Given the description of an element on the screen output the (x, y) to click on. 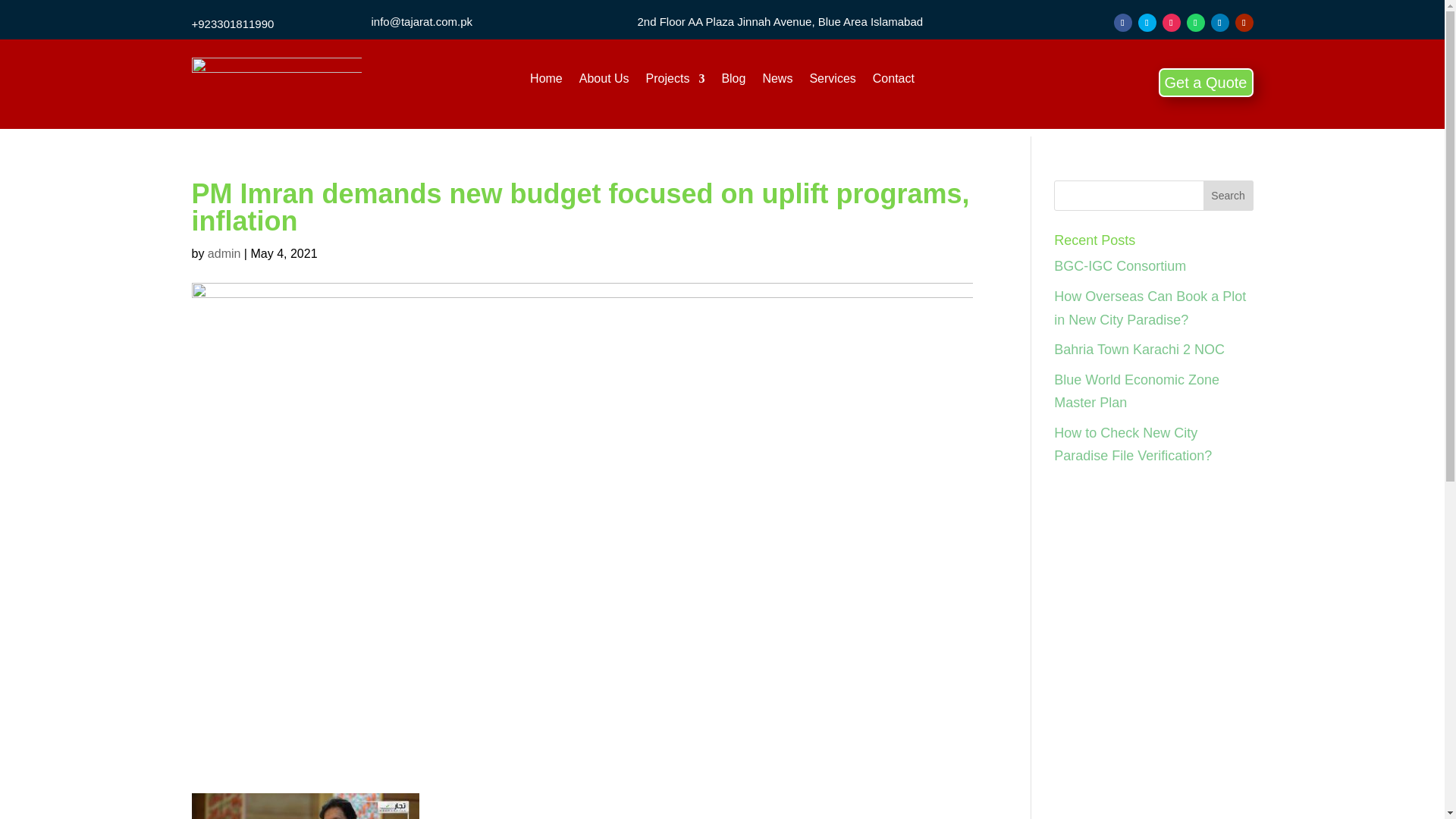
Follow on Youtube (1243, 22)
News (776, 81)
Follow on Instagram (1170, 22)
Follow on Facebook (1122, 22)
Search (1228, 195)
Projects (675, 81)
Home (545, 81)
Contact (893, 81)
Blog (732, 81)
admin (224, 253)
